Given the description of an element on the screen output the (x, y) to click on. 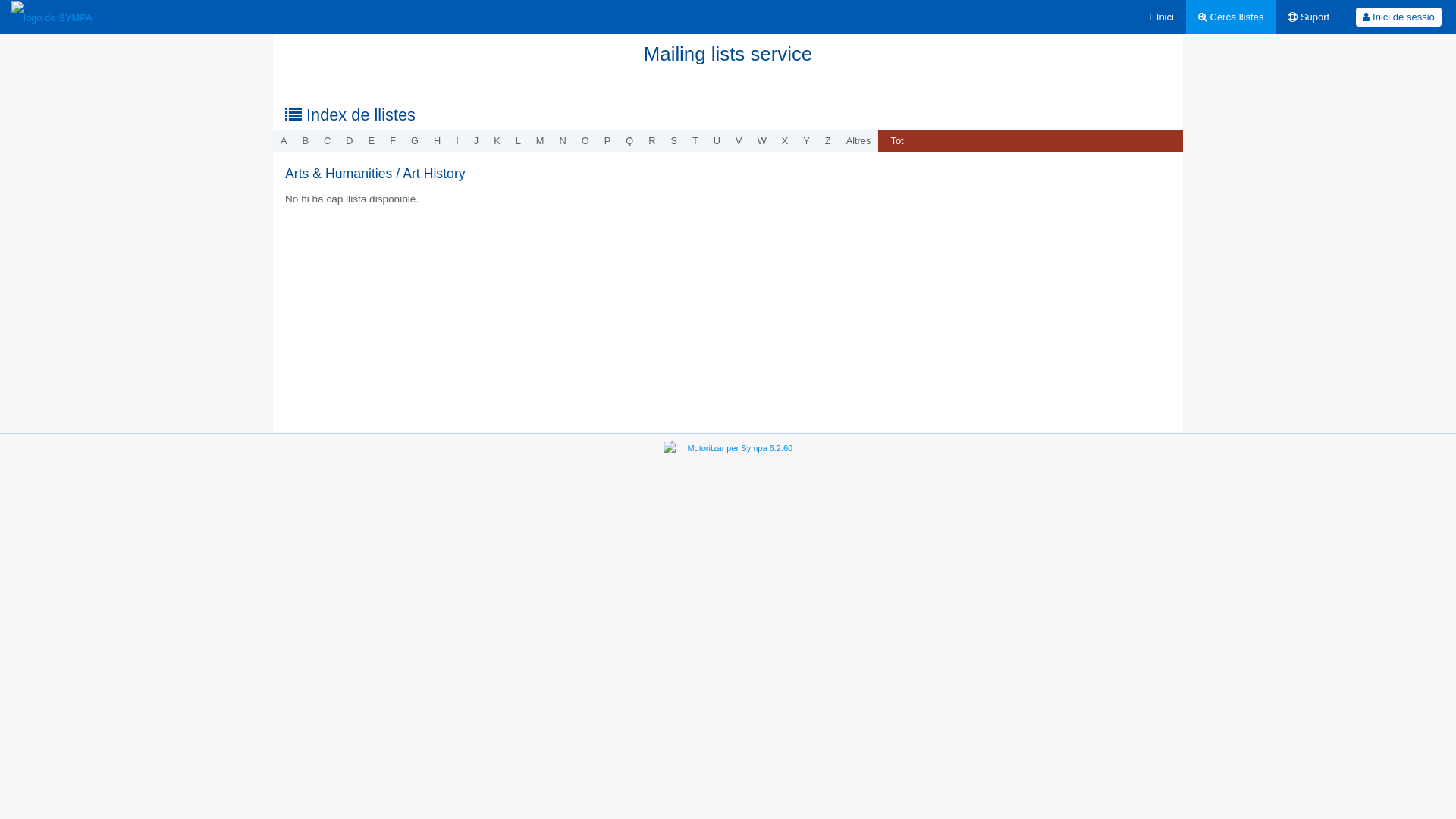
https://listes.kaz.bzh/wws Element type: hover (51, 16)
Inici Element type: text (1161, 17)
Suport Element type: text (1308, 17)
Cerca llistes Element type: text (1230, 17)
Tot Element type: text (896, 140)
Motoritzar per Sympa 6.2.60 Element type: text (739, 447)
